Given the description of an element on the screen output the (x, y) to click on. 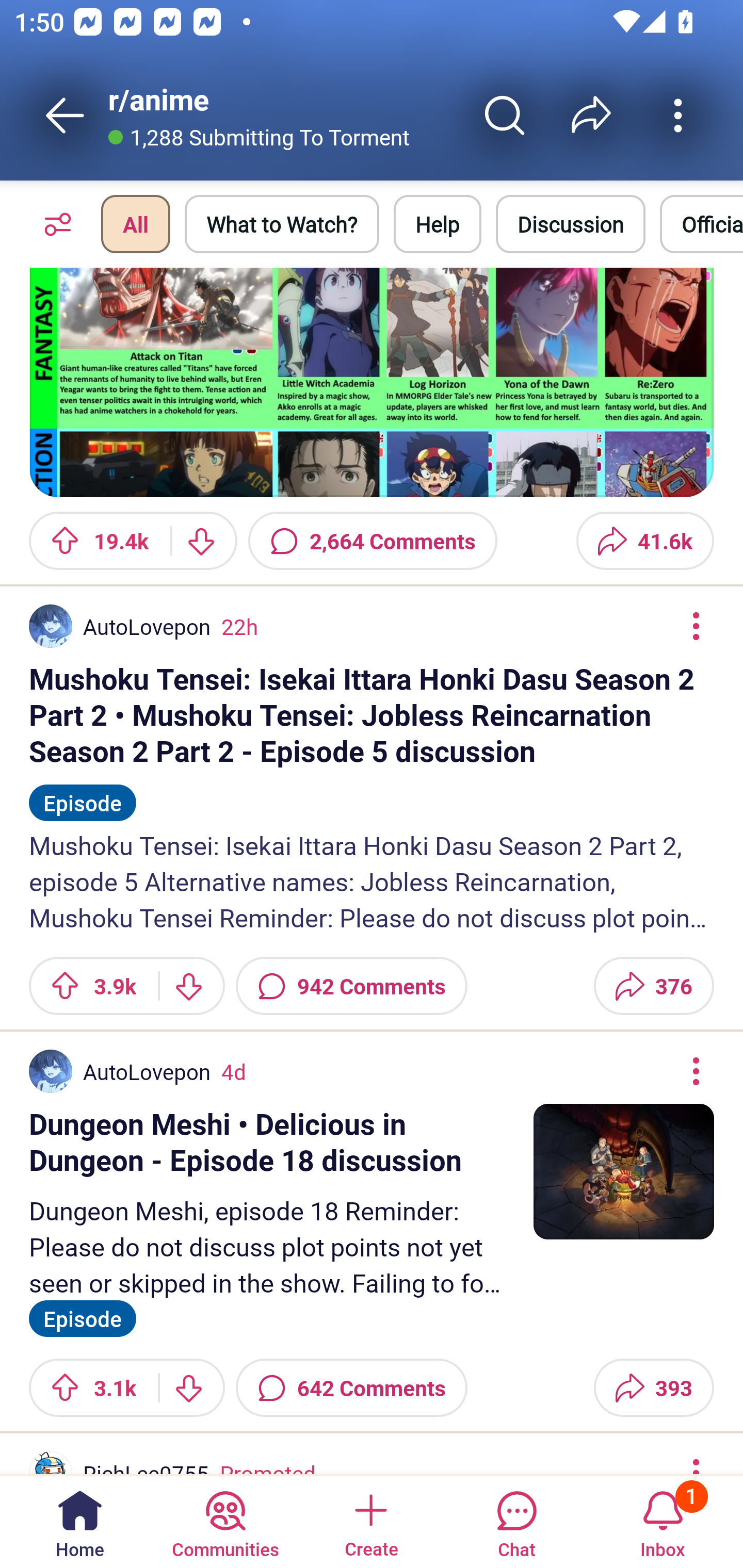
Back (64, 115)
Search r/﻿anime (504, 115)
Share r/﻿anime (591, 115)
More community actions (677, 115)
Feed Options (53, 224)
All (135, 224)
What to Watch? (281, 224)
Help (437, 224)
Discussion (570, 224)
Official Media (701, 224)
Episode (81, 793)
Episode (81, 1315)
Home (80, 1520)
Communities (225, 1520)
Create a post Create (370, 1520)
Chat (516, 1520)
Inbox, has 1 notification 1 Inbox (662, 1520)
